Given the description of an element on the screen output the (x, y) to click on. 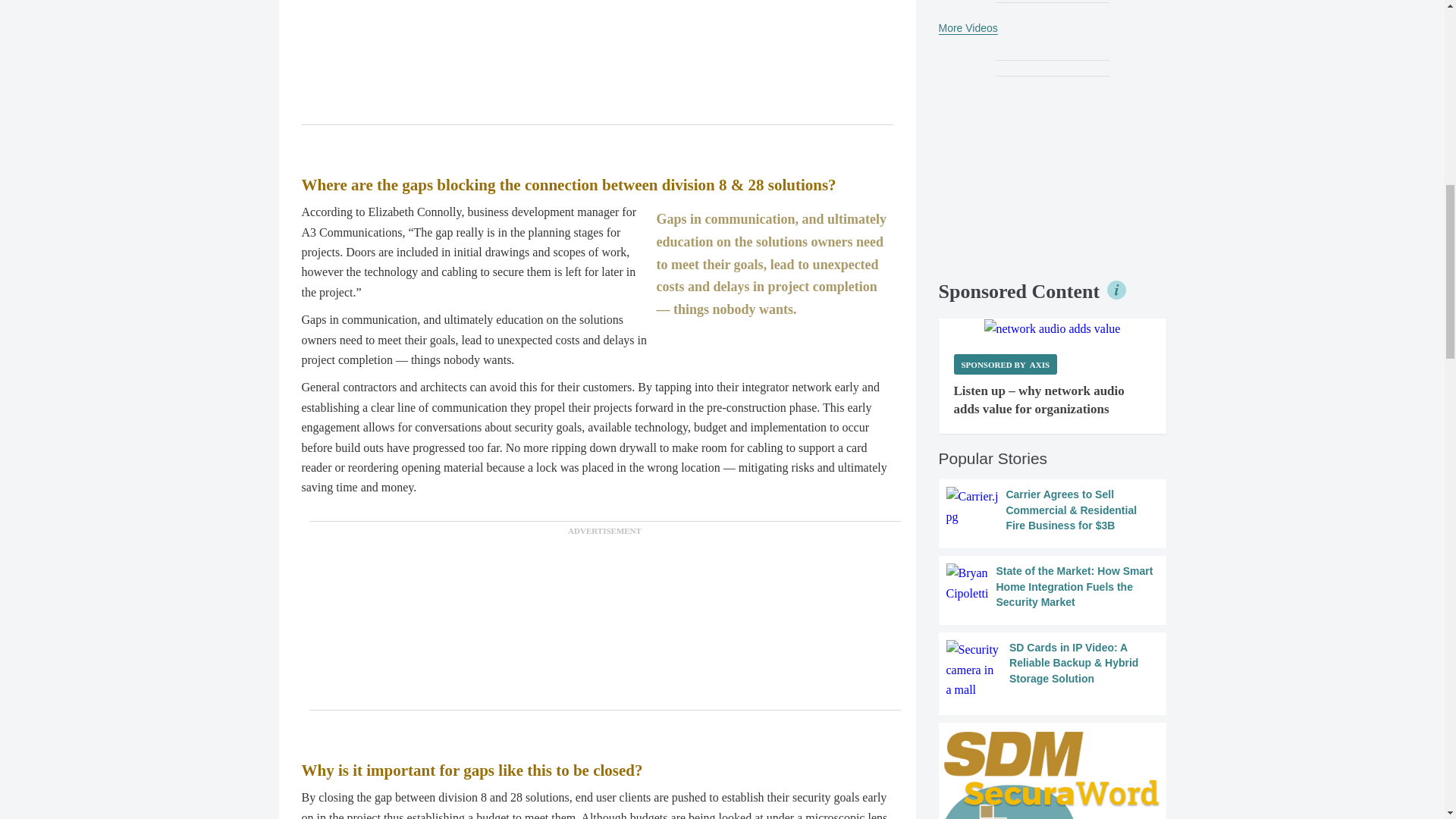
Axis Communications (1052, 329)
Sponsored by Axis  (1005, 363)
